Given the description of an element on the screen output the (x, y) to click on. 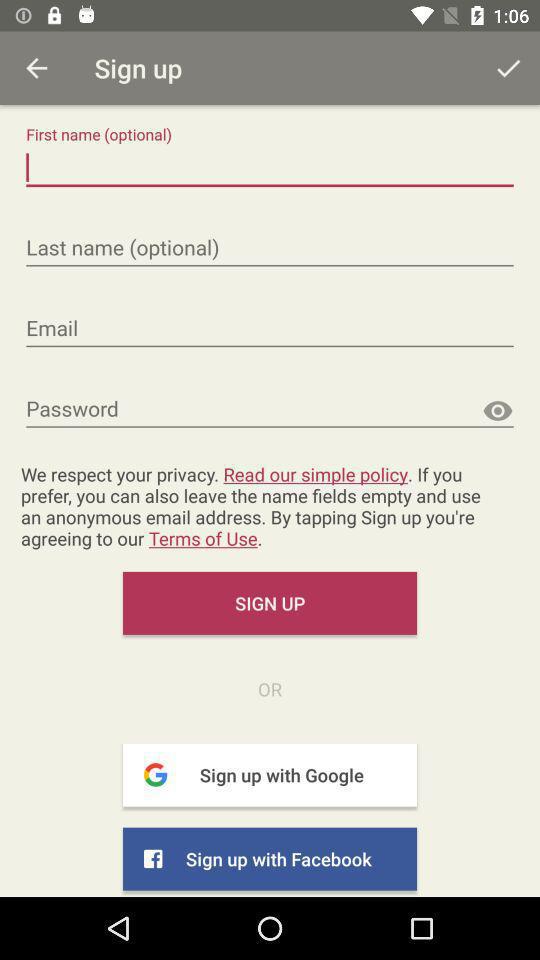
enter email (270, 329)
